Given the description of an element on the screen output the (x, y) to click on. 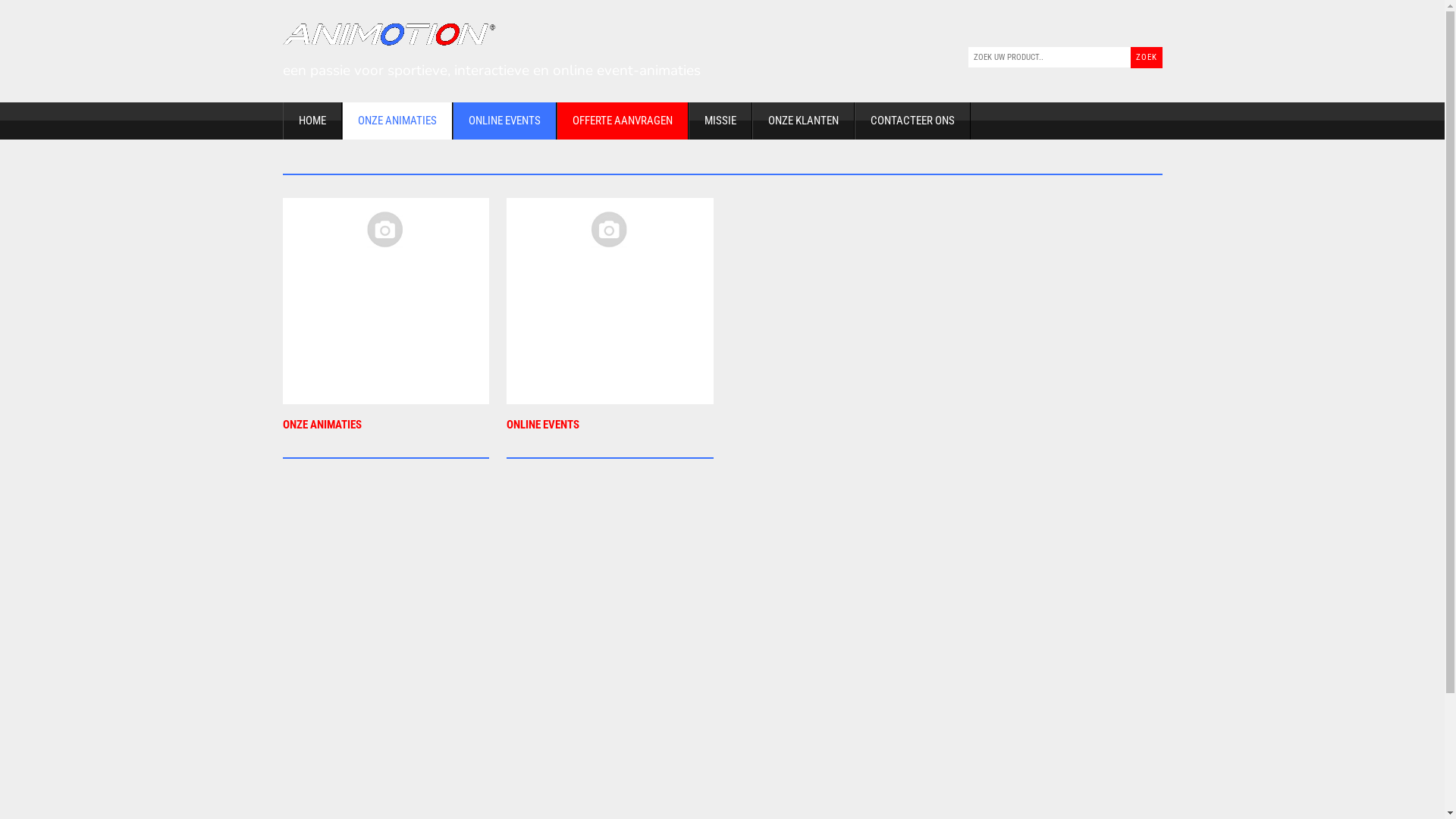
ONLINE EVENTS Element type: text (503, 120)
OFFERTE AANVRAGEN Element type: text (622, 120)
CONTACTEER ONS Element type: text (911, 120)
English Element type: hover (1153, 28)
ONLINE EVENTS Element type: text (609, 434)
ONZE KLANTEN Element type: text (803, 120)
Animotion BV Element type: hover (388, 34)
nederlands Element type: hover (1112, 28)
ZOEK Element type: text (1145, 57)
ONZE ANIMATIES Element type: text (396, 120)
MISSIE Element type: text (720, 120)
ONZE ANIMATIES Element type: text (385, 434)
HOME Element type: text (311, 120)
